Given the description of an element on the screen output the (x, y) to click on. 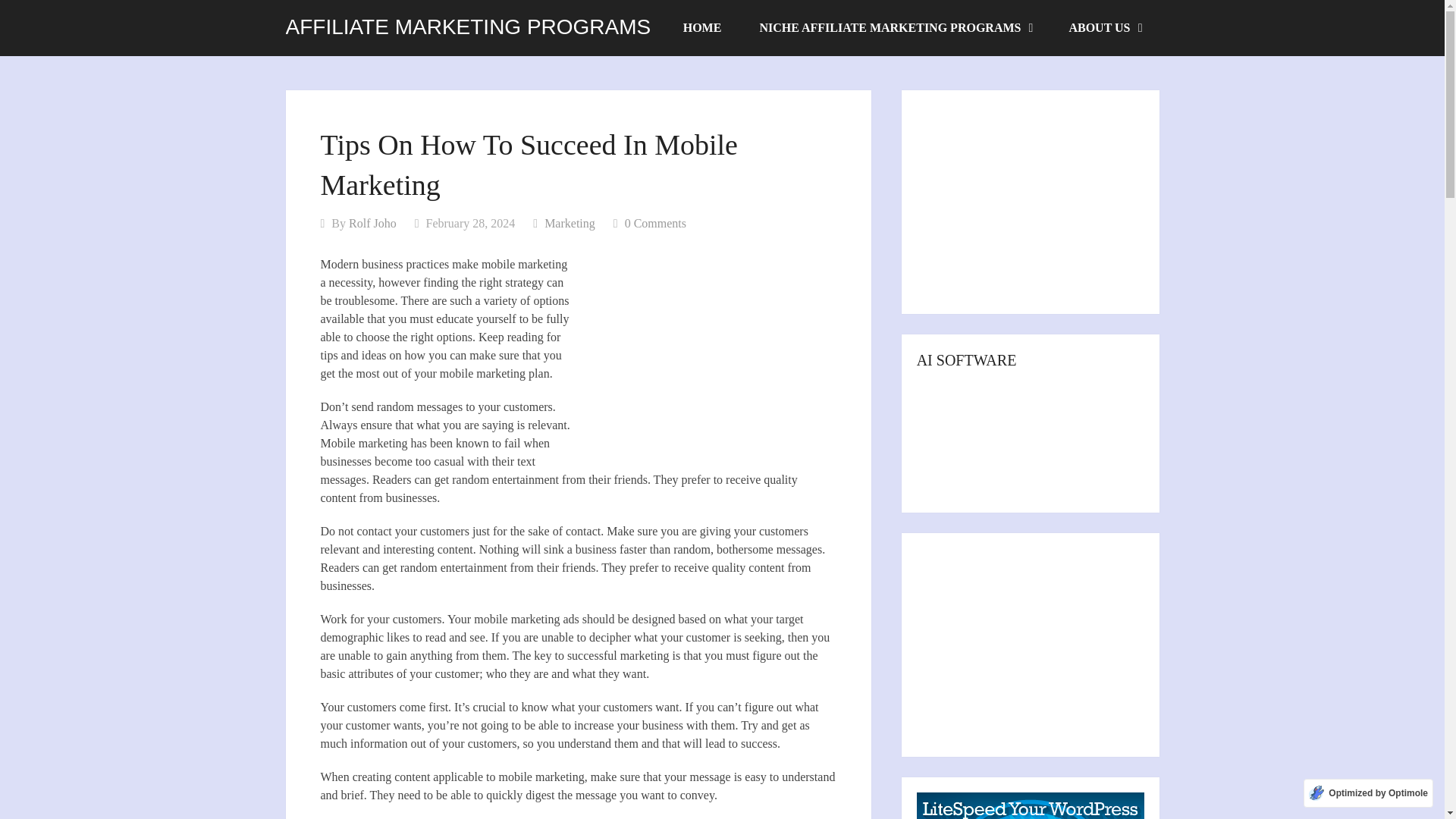
Tips On How To Succeed In Mobile Marketing (705, 354)
Marketing (569, 223)
HOME (702, 28)
AFFILIATE MARKETING PROGRAMS (467, 26)
Rolf Joho (372, 223)
Posts by Rolf Joho (372, 223)
NICHE AFFILIATE MARKETING PROGRAMS (894, 28)
0 Comments (654, 223)
ABOUT US (1103, 28)
